Given the description of an element on the screen output the (x, y) to click on. 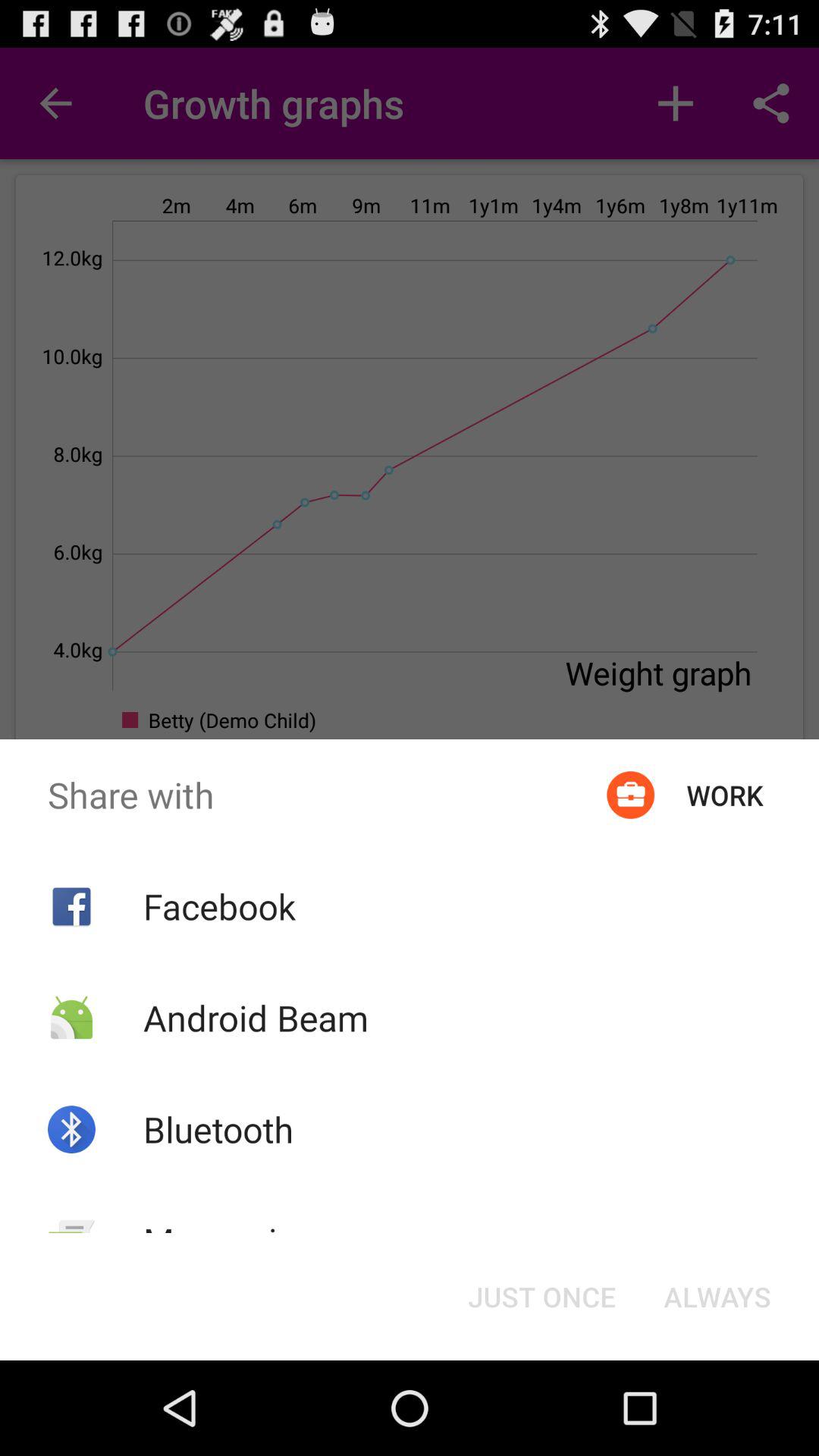
launch the messaging (229, 1240)
